Given the description of an element on the screen output the (x, y) to click on. 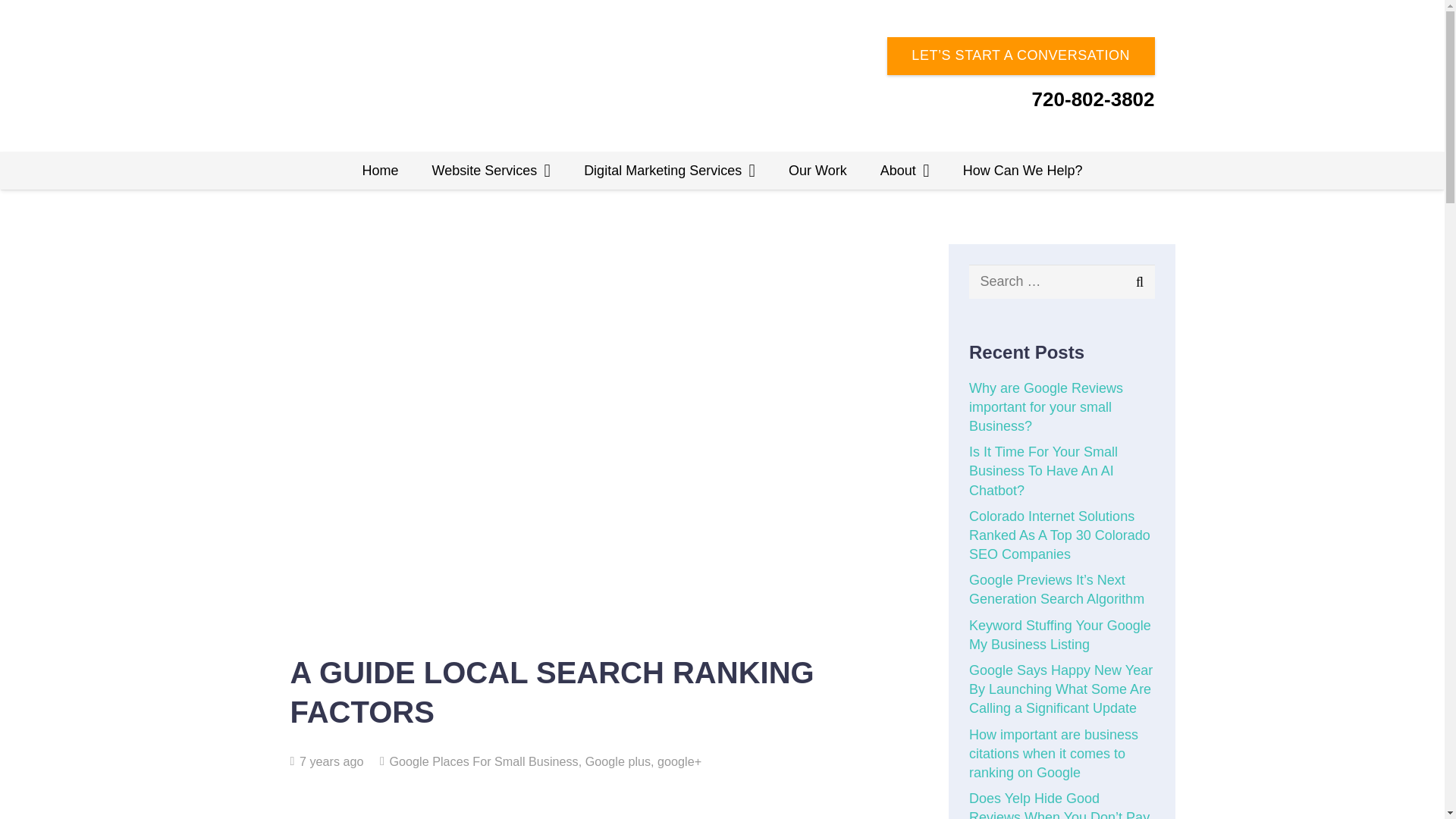
gmaps - Colorado Internet Solutions (826, 815)
Google Places For Small Business (483, 761)
720-802-3802 (1093, 98)
Digital Marketing Services (669, 170)
cis-logo - Colorado Internet Solutions (376, 75)
Home (379, 170)
Google plus (617, 761)
Website Services (490, 170)
